Given the description of an element on the screen output the (x, y) to click on. 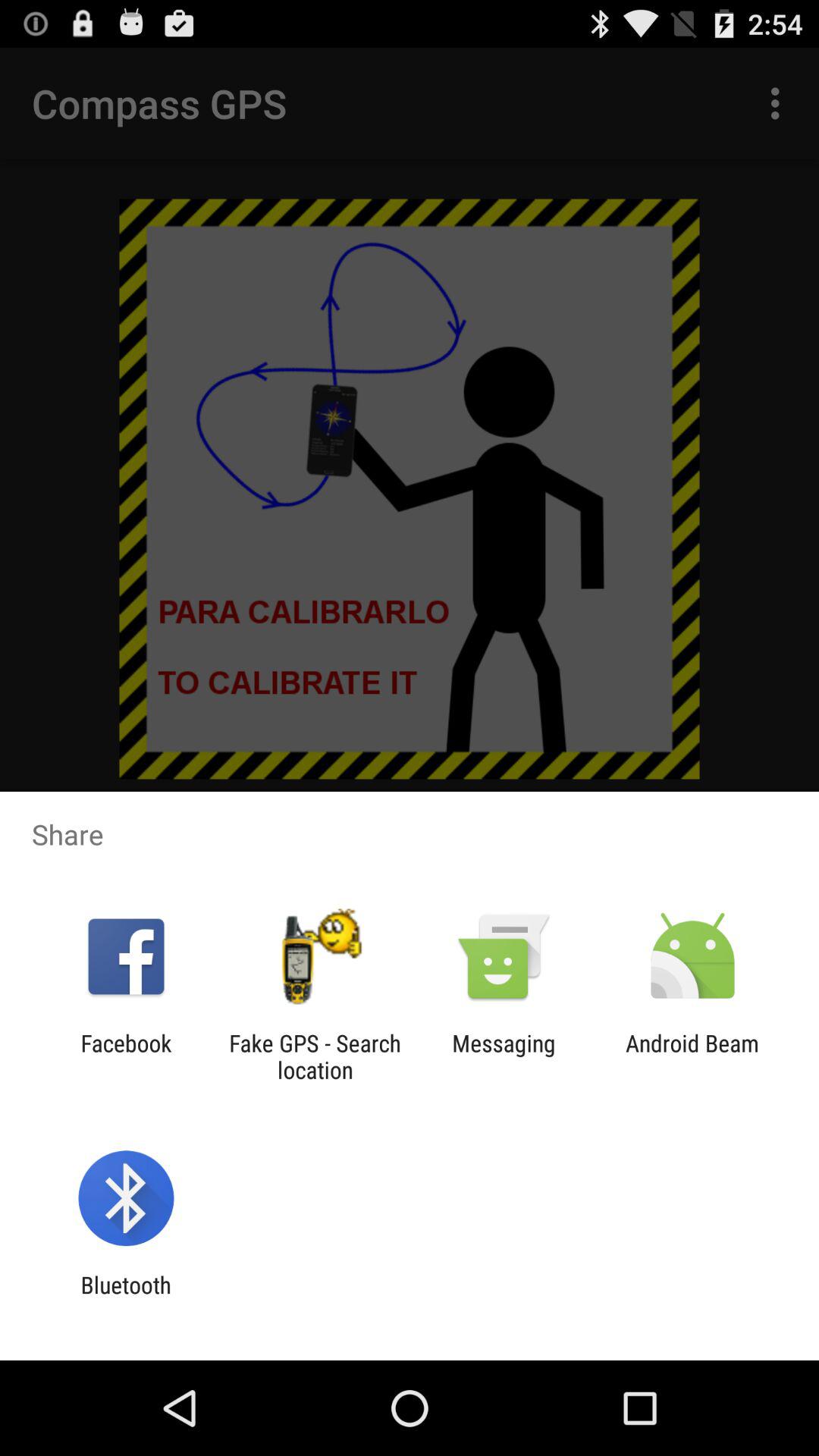
choose facebook app (125, 1056)
